Given the description of an element on the screen output the (x, y) to click on. 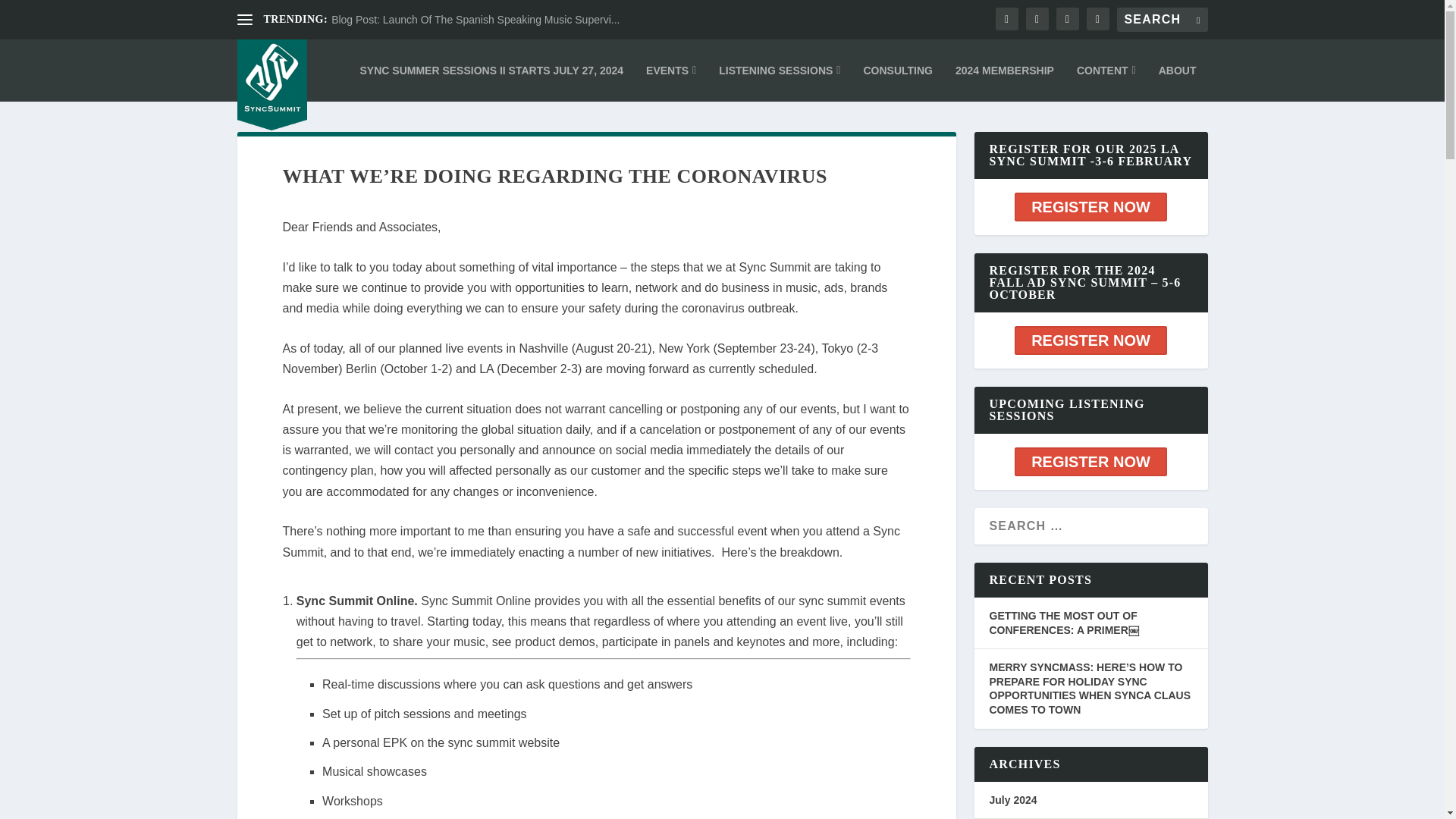
Search for: (1161, 19)
Blog Post: Launch Of The Spanish Speaking Music Supervi... (475, 19)
SYNC SUMMER SESSIONS II STARTS JULY 27, 2024 (491, 70)
